Given the description of an element on the screen output the (x, y) to click on. 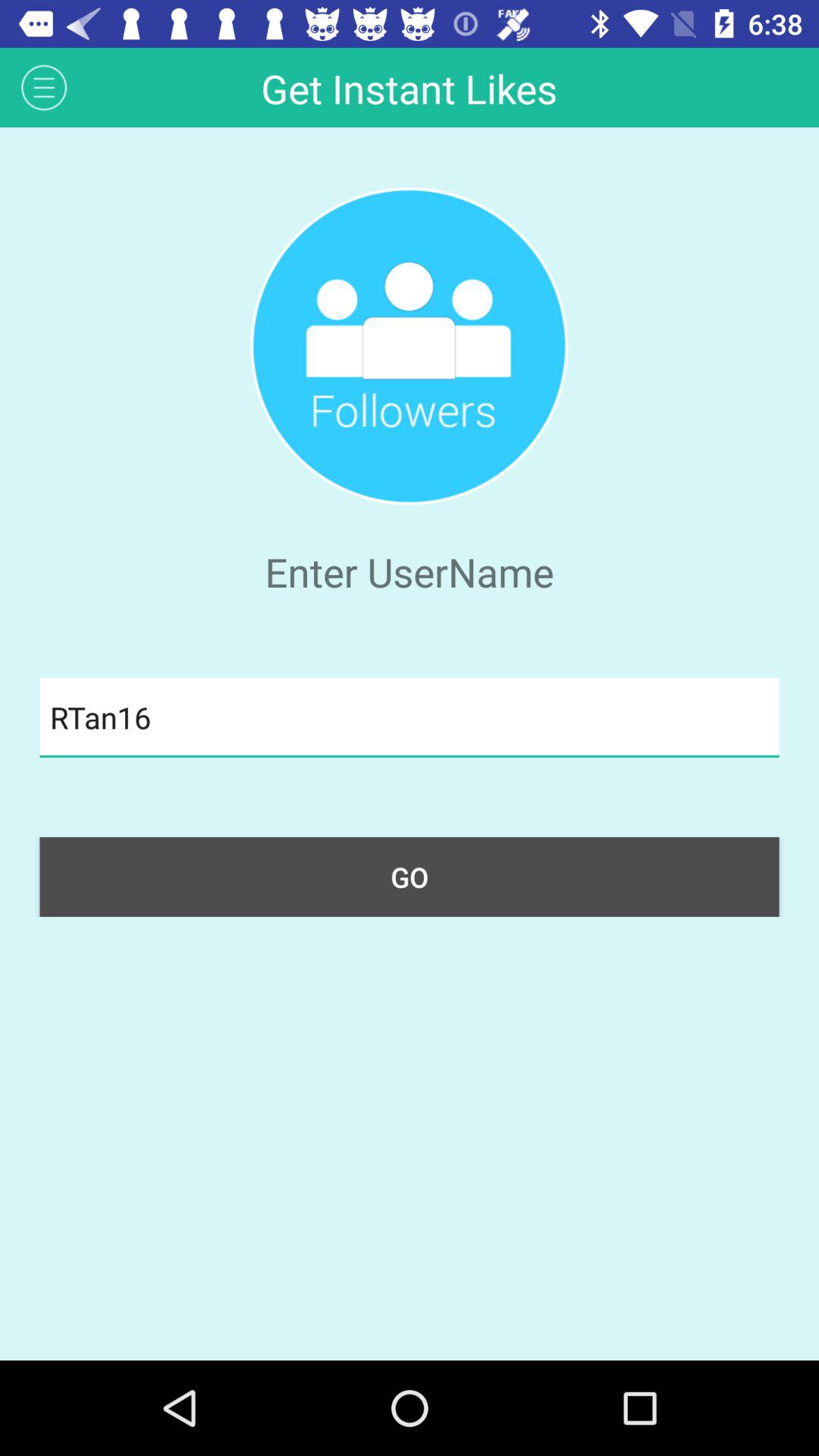
turn off the rtan16 (409, 717)
